Given the description of an element on the screen output the (x, y) to click on. 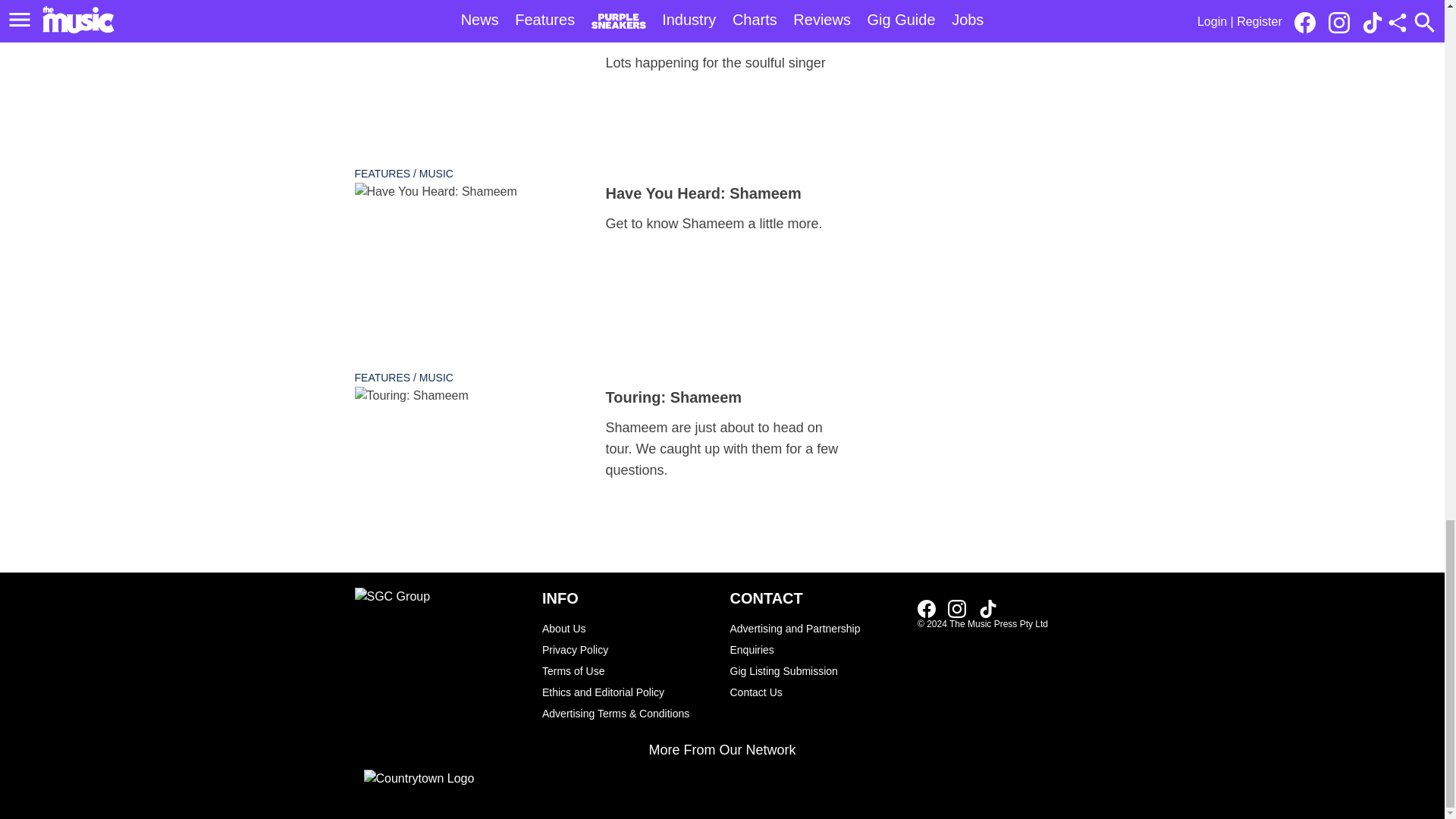
Link to our TikTok (987, 608)
Ethics and Editorial Policy (627, 691)
Privacy Policy (627, 649)
Link to our Instagram (961, 608)
About Us (627, 628)
Contact Us (815, 691)
Gig Listing Submission (815, 670)
Terms of Use (627, 670)
Link to our Facebook (926, 608)
Link to our Instagram (956, 608)
